Given the description of an element on the screen output the (x, y) to click on. 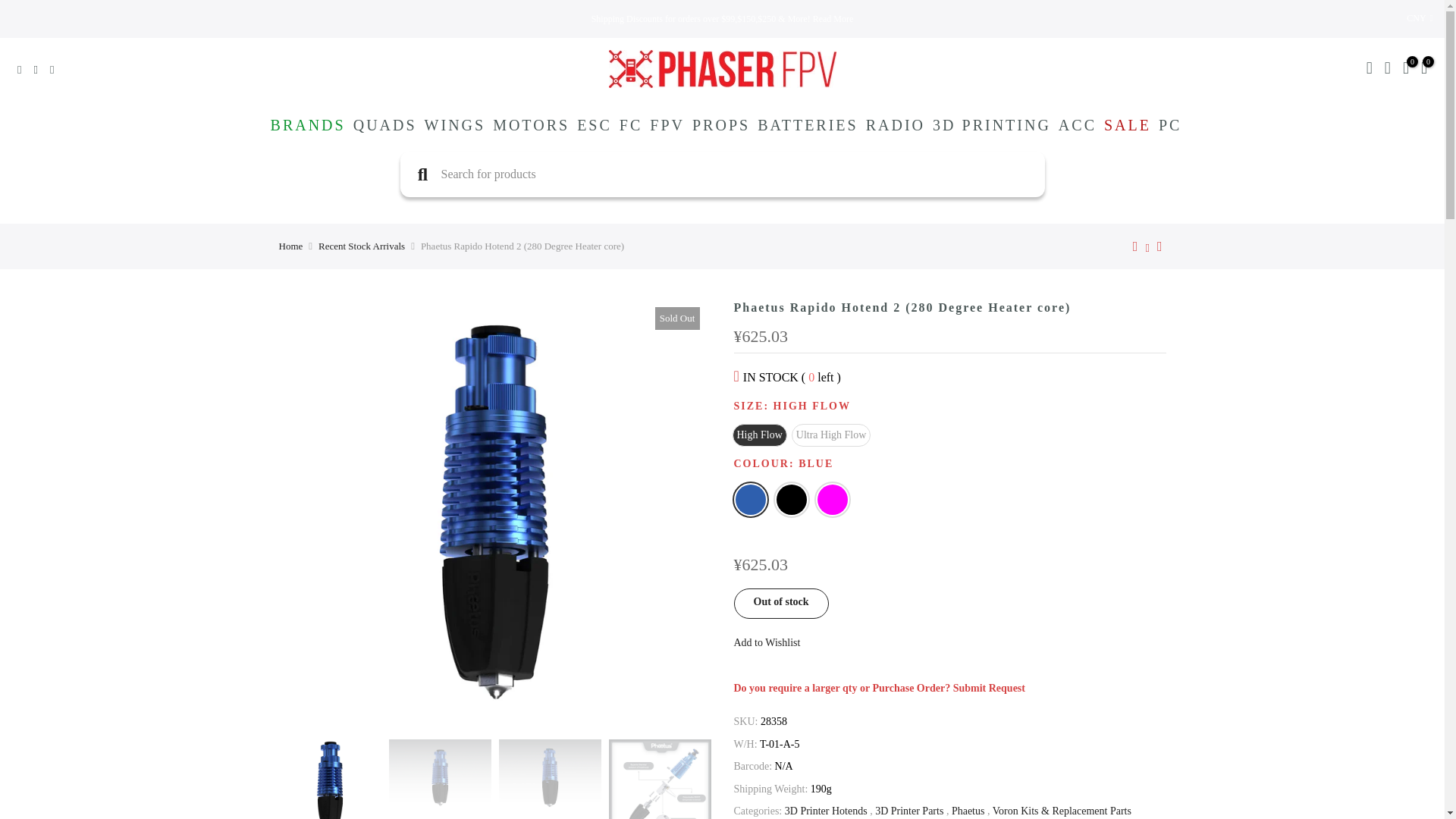
0 (1405, 69)
Home (290, 246)
QUADS (384, 125)
WINGS (455, 125)
3D PRINTING (992, 125)
BATTERIES (808, 125)
RADIO (895, 125)
BRANDS (308, 125)
MOTORS (531, 125)
Read More (832, 18)
